Given the description of an element on the screen output the (x, y) to click on. 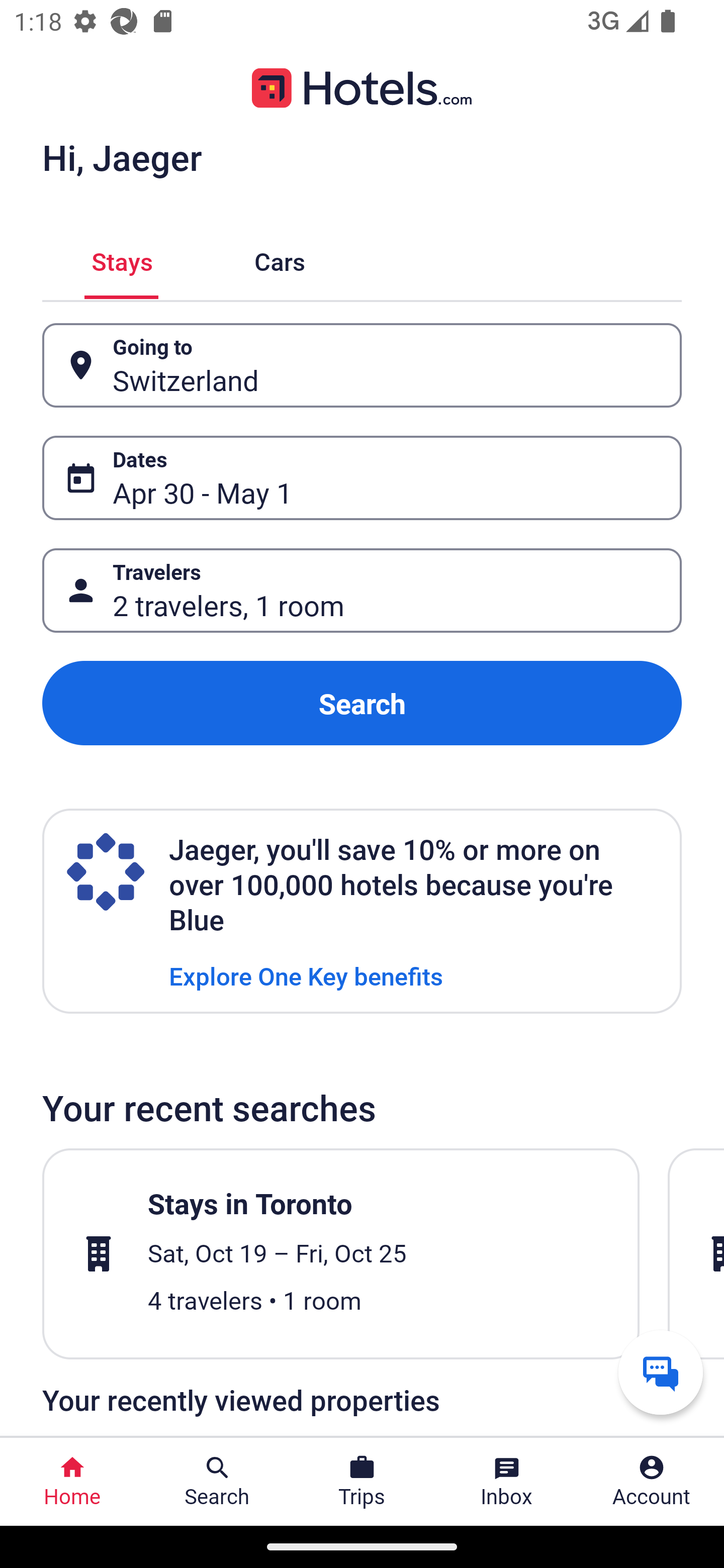
Hi, Jaeger (121, 156)
Cars (279, 259)
Going to Button Switzerland (361, 365)
Dates Button Apr 30 - May 1 (361, 477)
Travelers Button 2 travelers, 1 room (361, 590)
Search (361, 702)
Get help from a virtual agent (660, 1371)
Search Search Button (216, 1481)
Trips Trips Button (361, 1481)
Inbox Inbox Button (506, 1481)
Account Profile. Button (651, 1481)
